Given the description of an element on the screen output the (x, y) to click on. 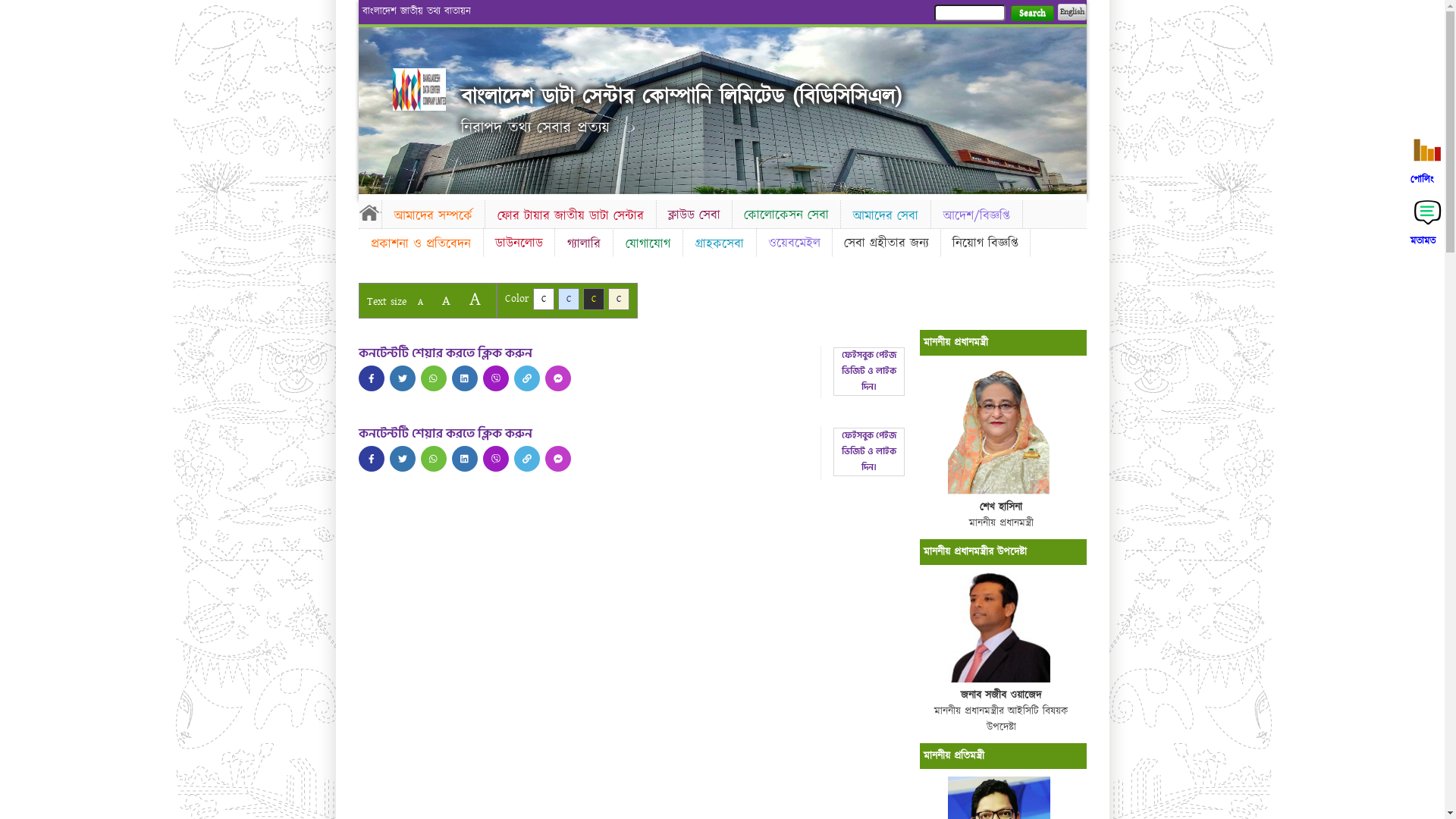
A Element type: text (445, 300)
C Element type: text (618, 299)
English Element type: text (1071, 11)
Home Element type: hover (418, 89)
Search Element type: text (1031, 13)
A Element type: text (474, 298)
Home Element type: hover (368, 211)
A Element type: text (419, 301)
C Element type: text (568, 299)
C Element type: text (542, 299)
C Element type: text (592, 299)
